Given the description of an element on the screen output the (x, y) to click on. 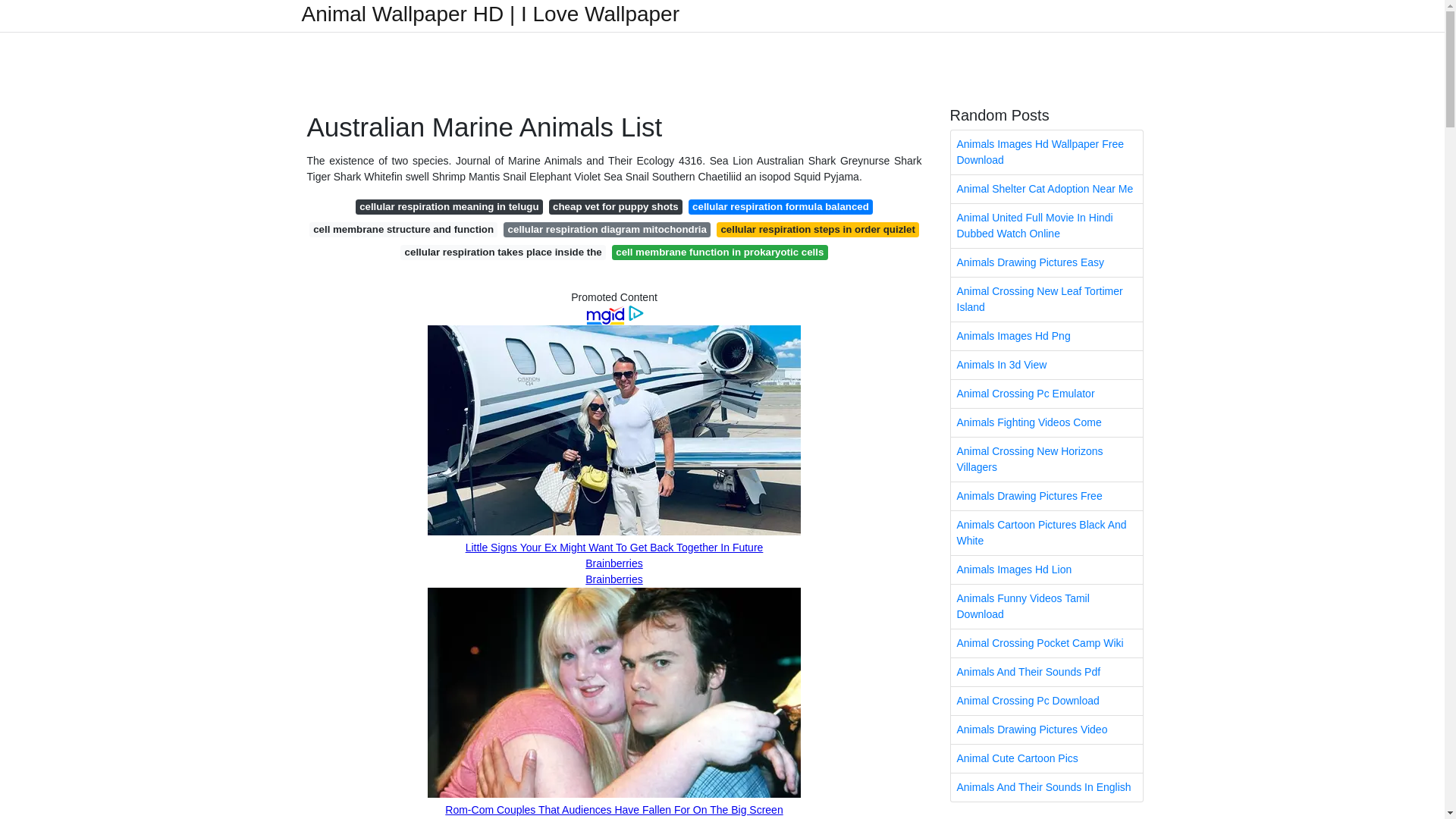
Animals In 3d View (1046, 365)
Animals Fighting Videos Come (1046, 422)
Animals Drawing Pictures Easy (1046, 262)
cell membrane function in prokaryotic cells (719, 252)
cellular respiration meaning in telugu (449, 206)
Animals Images Hd Png (1046, 336)
cellular respiration steps in order quizlet (817, 229)
cell membrane structure and function (402, 229)
cellular respiration takes place inside the (502, 252)
cellular respiration diagram mitochondria (606, 229)
Animal Shelter Cat Adoption Near Me (1046, 189)
cheap vet for puppy shots (615, 206)
Animal Crossing New Horizons Villagers (1046, 459)
Animals Images Hd Wallpaper Free Download (1046, 152)
Animal Crossing New Leaf Tortimer Island (1046, 299)
